Given the description of an element on the screen output the (x, y) to click on. 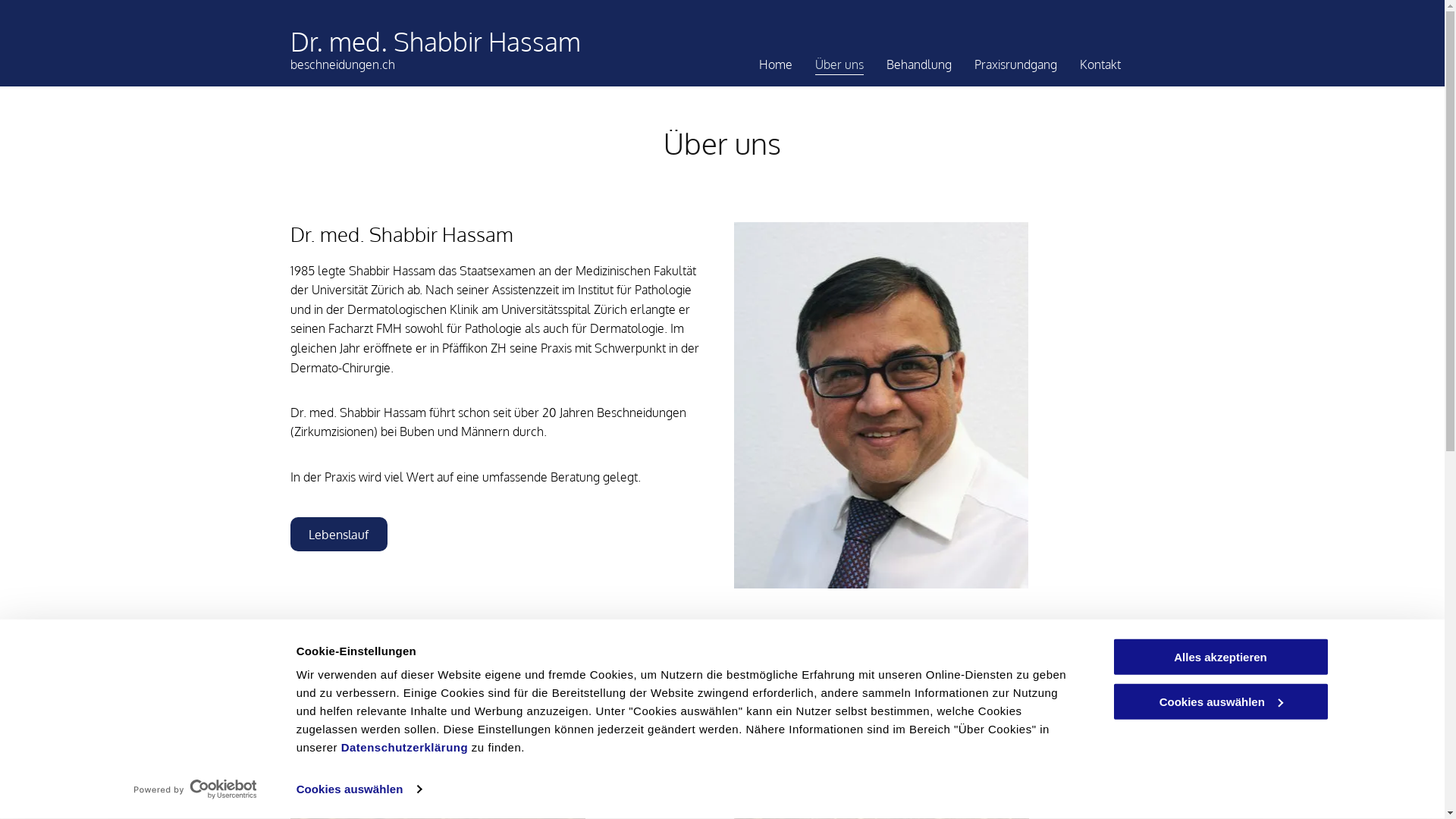
Behandlung Element type: text (917, 63)
Alles akzeptieren Element type: text (1219, 656)
Lebenslauf Element type: text (337, 534)
Praxisrundgang Element type: text (1014, 63)
Kontakt Element type: text (1099, 63)
Home Element type: text (774, 63)
Dr. med. Shabbir Hassam Element type: text (434, 41)
